Given the description of an element on the screen output the (x, y) to click on. 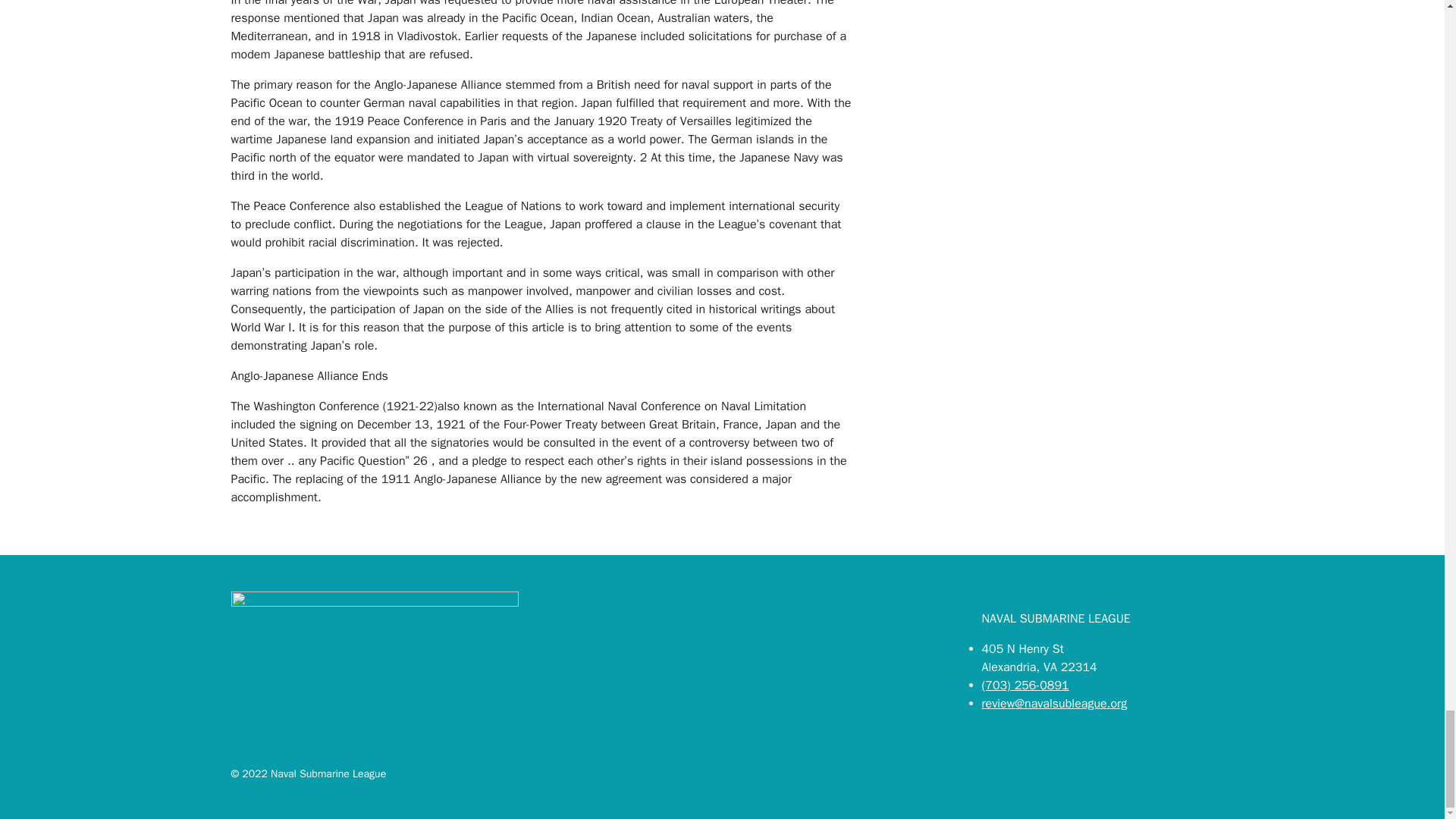
Call Us (1024, 685)
Mail Us (1053, 703)
